Given the description of an element on the screen output the (x, y) to click on. 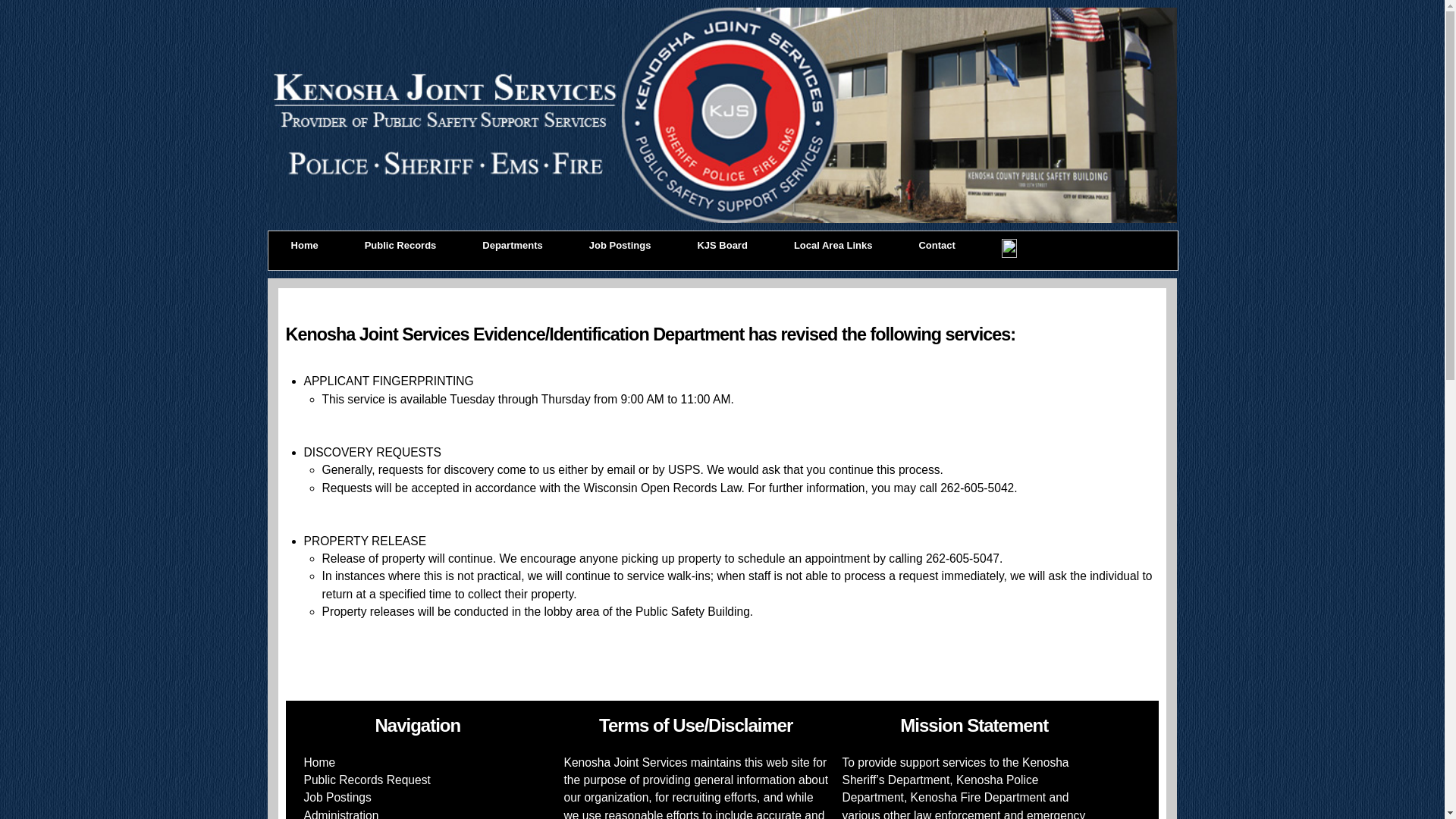
Kenosha Joint Services Job Postings (619, 245)
Job Postings (619, 245)
Kenosha Joint Services Public Records (400, 245)
Local Area Links (833, 245)
Contact (936, 245)
Kenosha Joint Services (304, 245)
Kenosha Joint Services Board (721, 245)
Public Records (400, 245)
Kenosha Joint Services Departments (512, 245)
Public Records Request (367, 779)
